Given the description of an element on the screen output the (x, y) to click on. 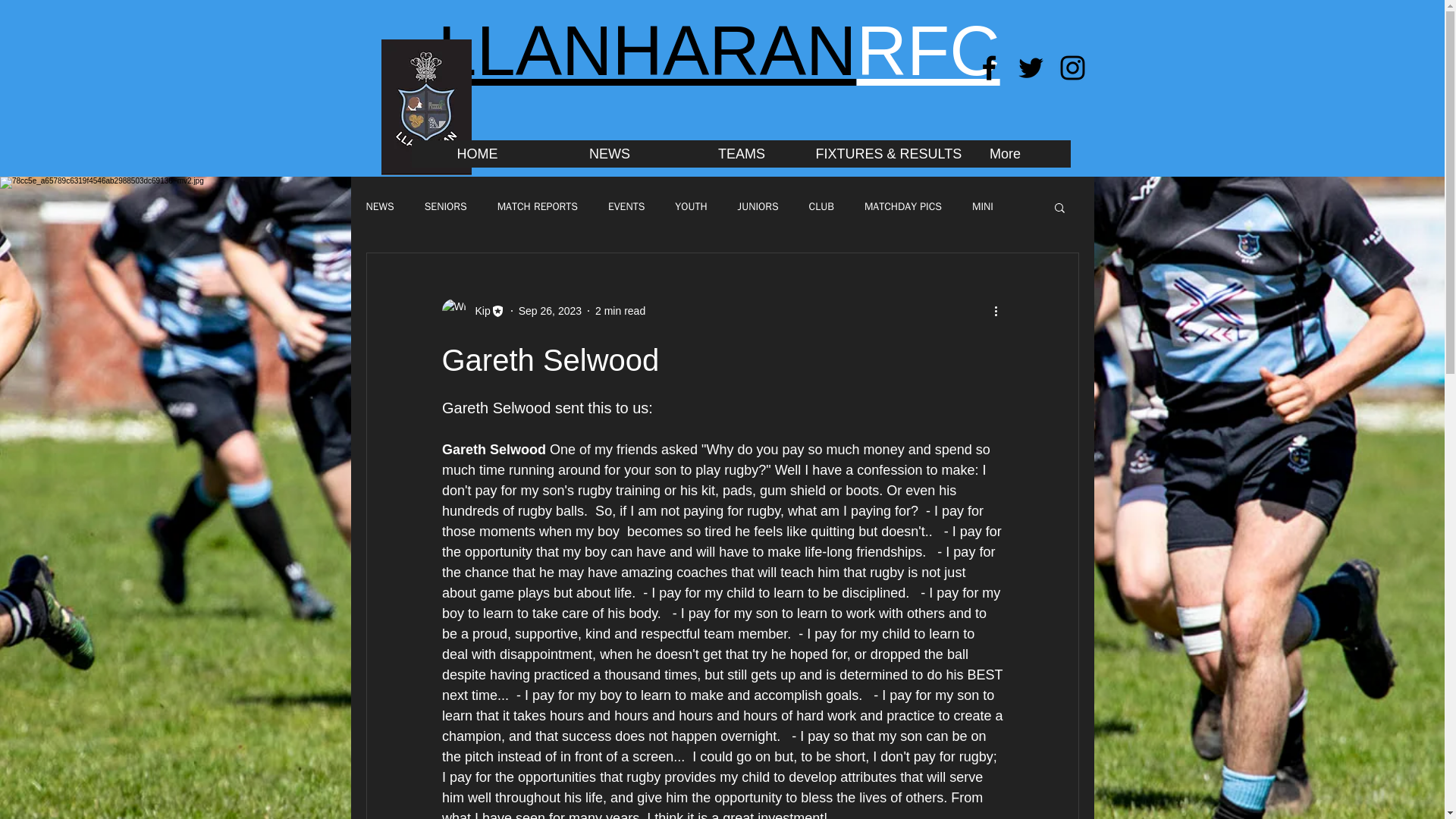
MATCHDAY PICS (903, 206)
MATCH REPORTS (537, 206)
EVENTS (626, 206)
Sep 26, 2023 (549, 310)
HOME (476, 153)
JUNIORS (758, 206)
NEWS (609, 153)
Kip (477, 311)
RFC (928, 50)
2 min read (620, 310)
LLANHARAN (647, 50)
NEWS (379, 206)
TEAMS (740, 153)
SENIORS (446, 206)
MINI (982, 206)
